Given the description of an element on the screen output the (x, y) to click on. 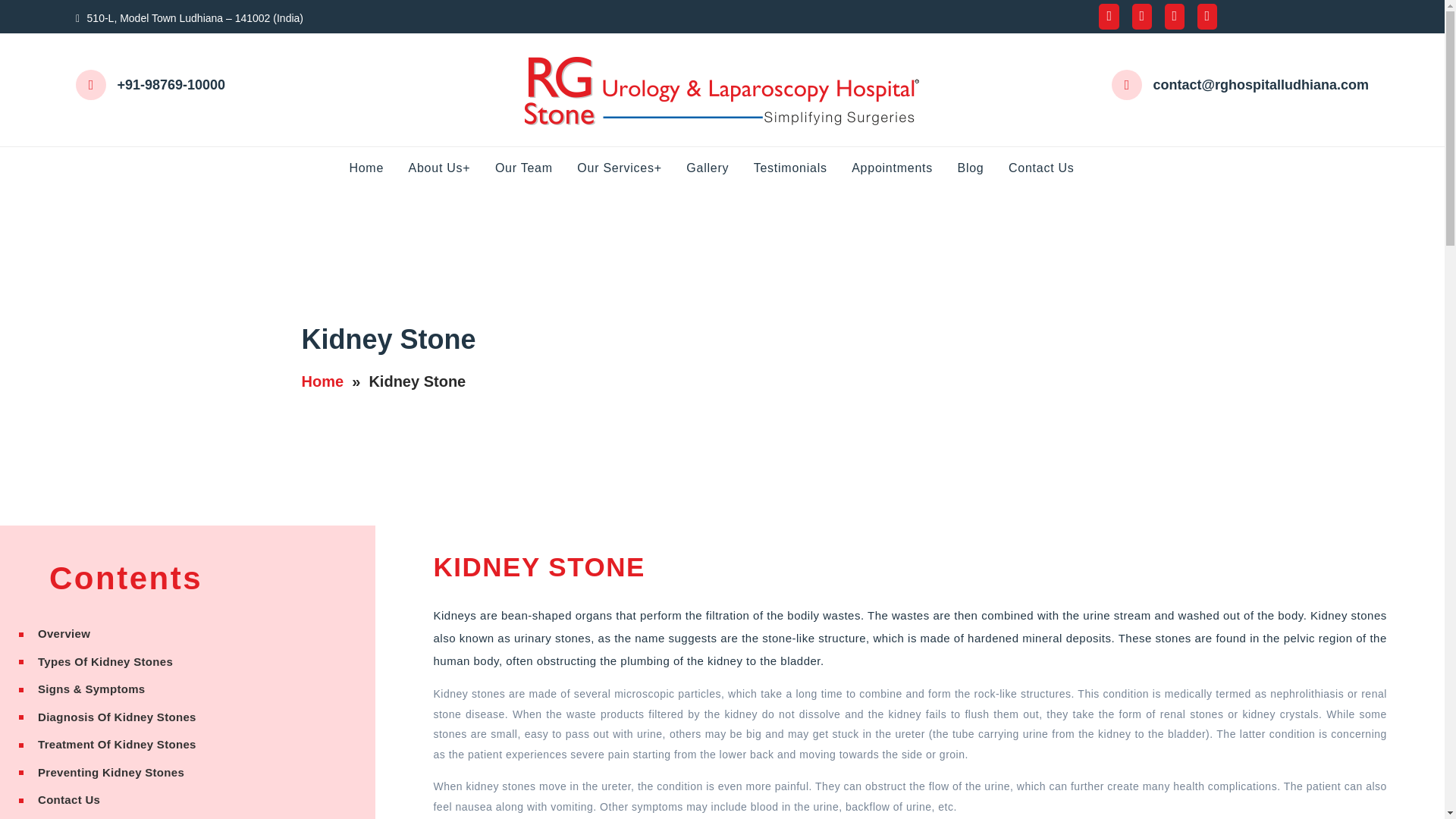
Overview (187, 633)
Appointments (902, 168)
Contact Us (1052, 168)
Our Team (534, 168)
Home (322, 381)
Blog (980, 168)
Gallery (717, 168)
Home (376, 168)
Testimonials (801, 168)
